Given the description of an element on the screen output the (x, y) to click on. 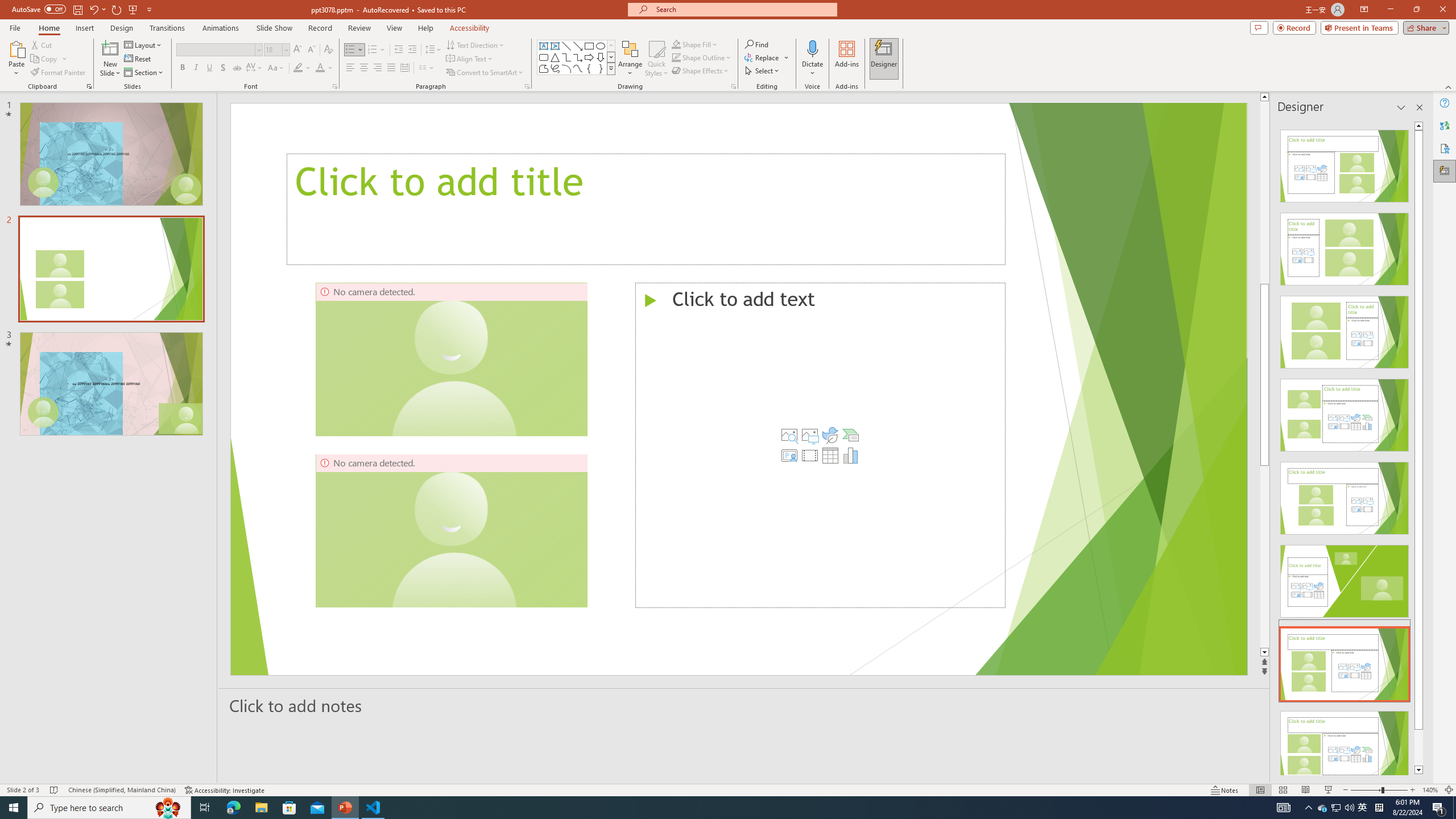
Camera 3, No camera detected. (838, 530)
